Given the description of an element on the screen output the (x, y) to click on. 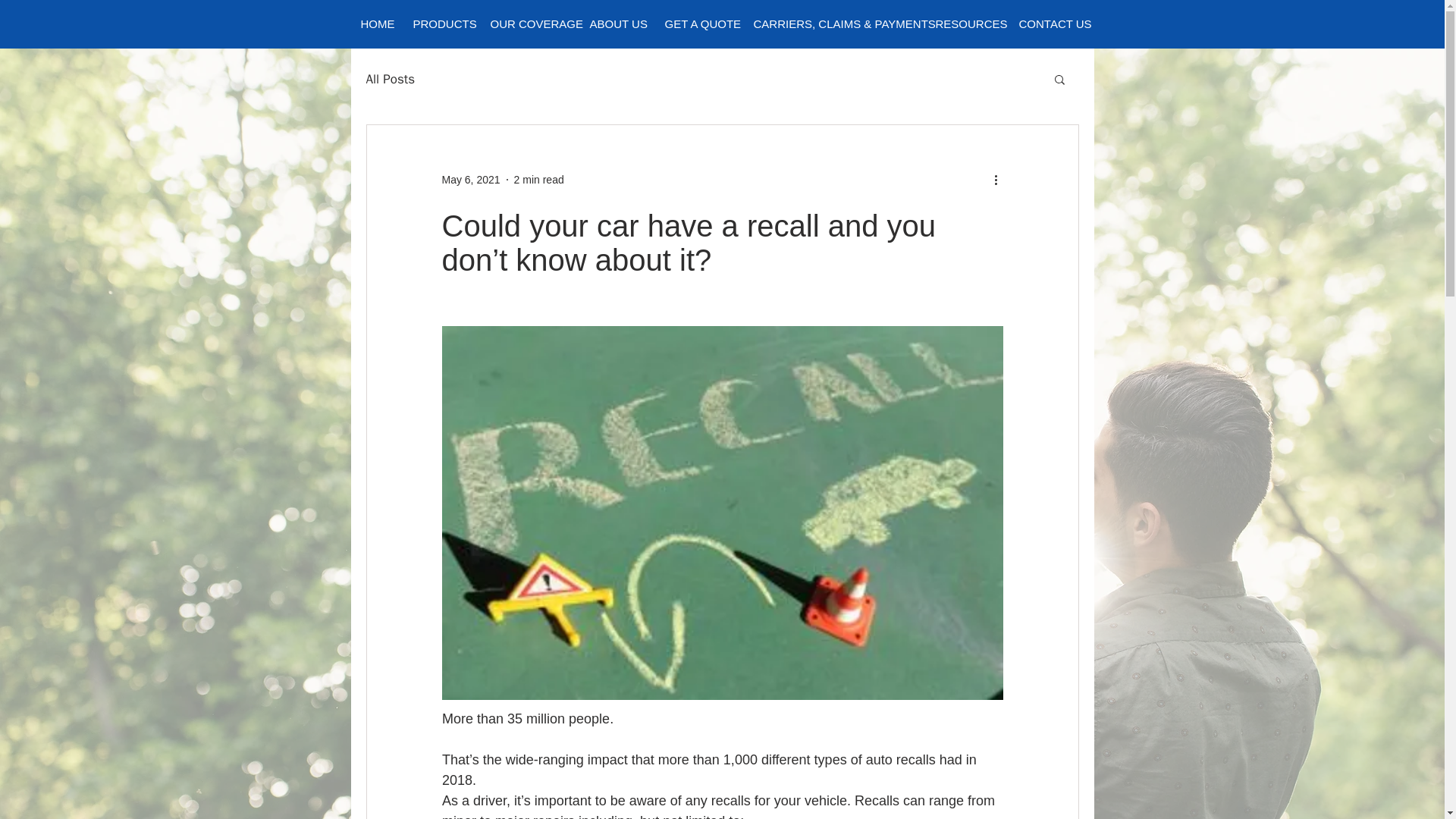
GET A QUOTE (699, 24)
2 min read (538, 178)
PRODUCTS (441, 24)
All Posts (389, 77)
ABOUT US (616, 24)
RESOURCES (966, 24)
CONTACT US (1051, 24)
May 6, 2021 (470, 178)
OUR COVERAGE (529, 24)
HOME (376, 24)
